Given the description of an element on the screen output the (x, y) to click on. 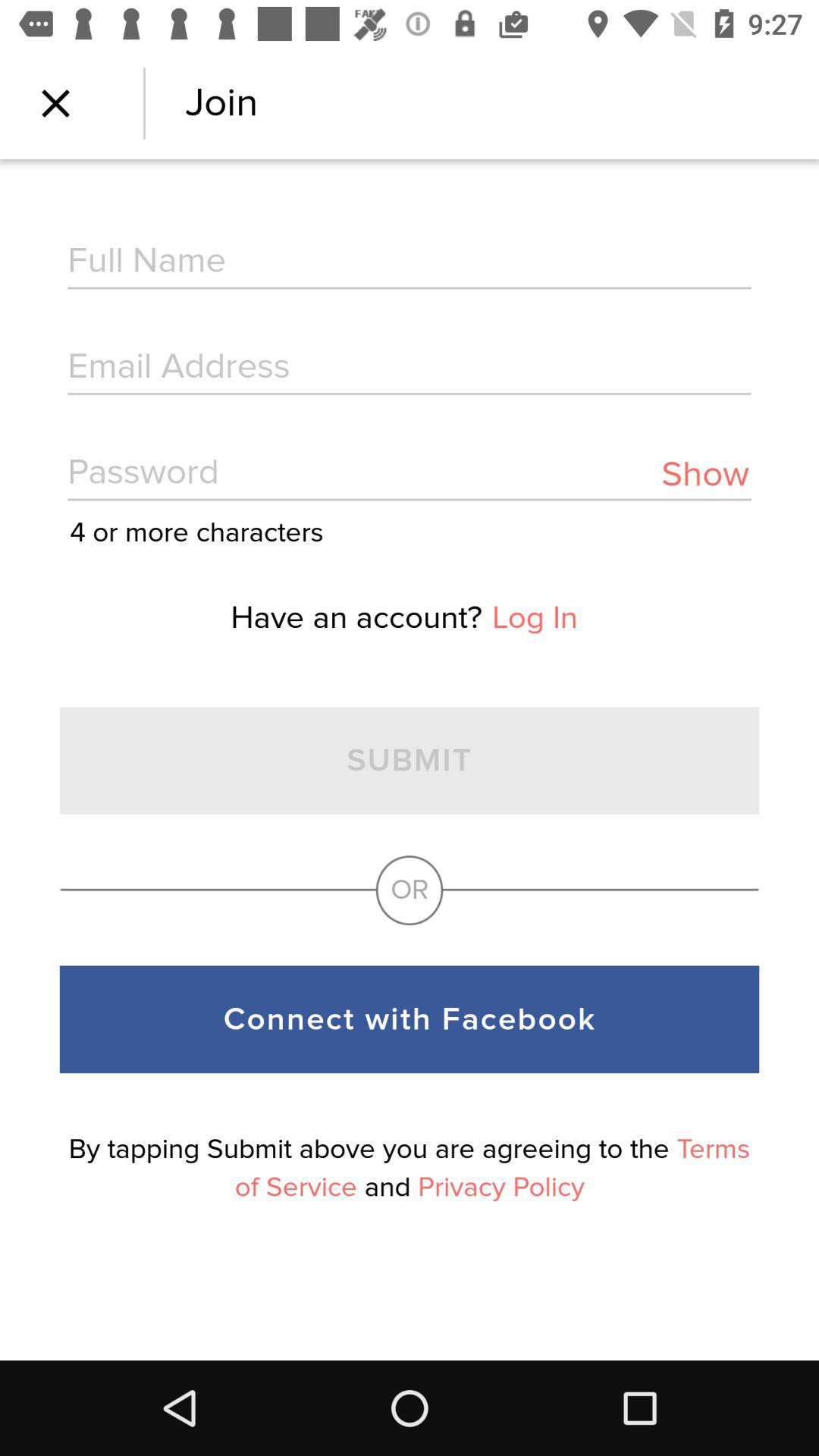
close the page (55, 103)
